Given the description of an element on the screen output the (x, y) to click on. 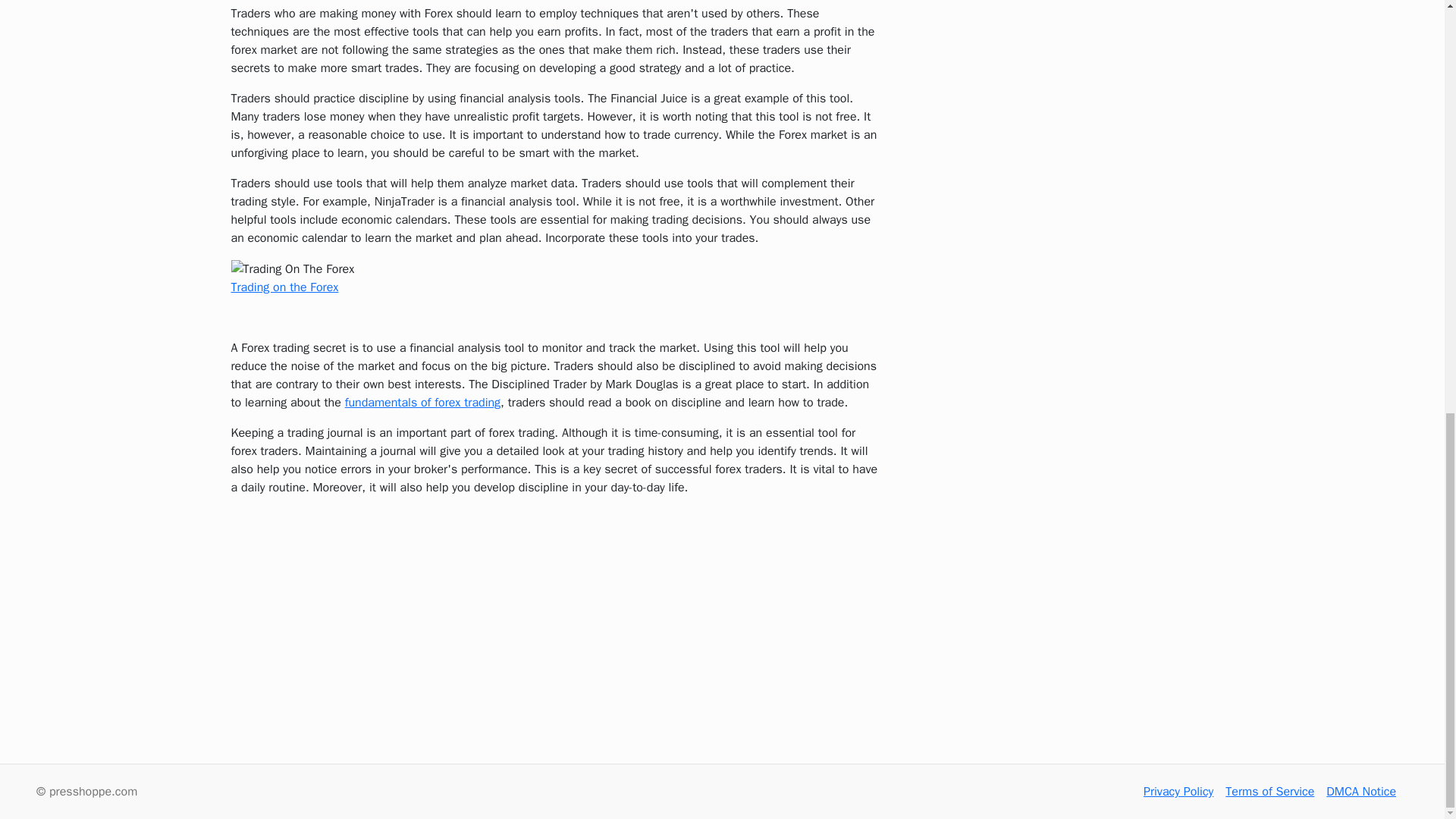
Privacy Policy (1177, 791)
Terms of Service (1269, 791)
Trading on the Forex (283, 287)
DMCA Notice (1361, 791)
fundamentals of forex trading (422, 402)
